Given the description of an element on the screen output the (x, y) to click on. 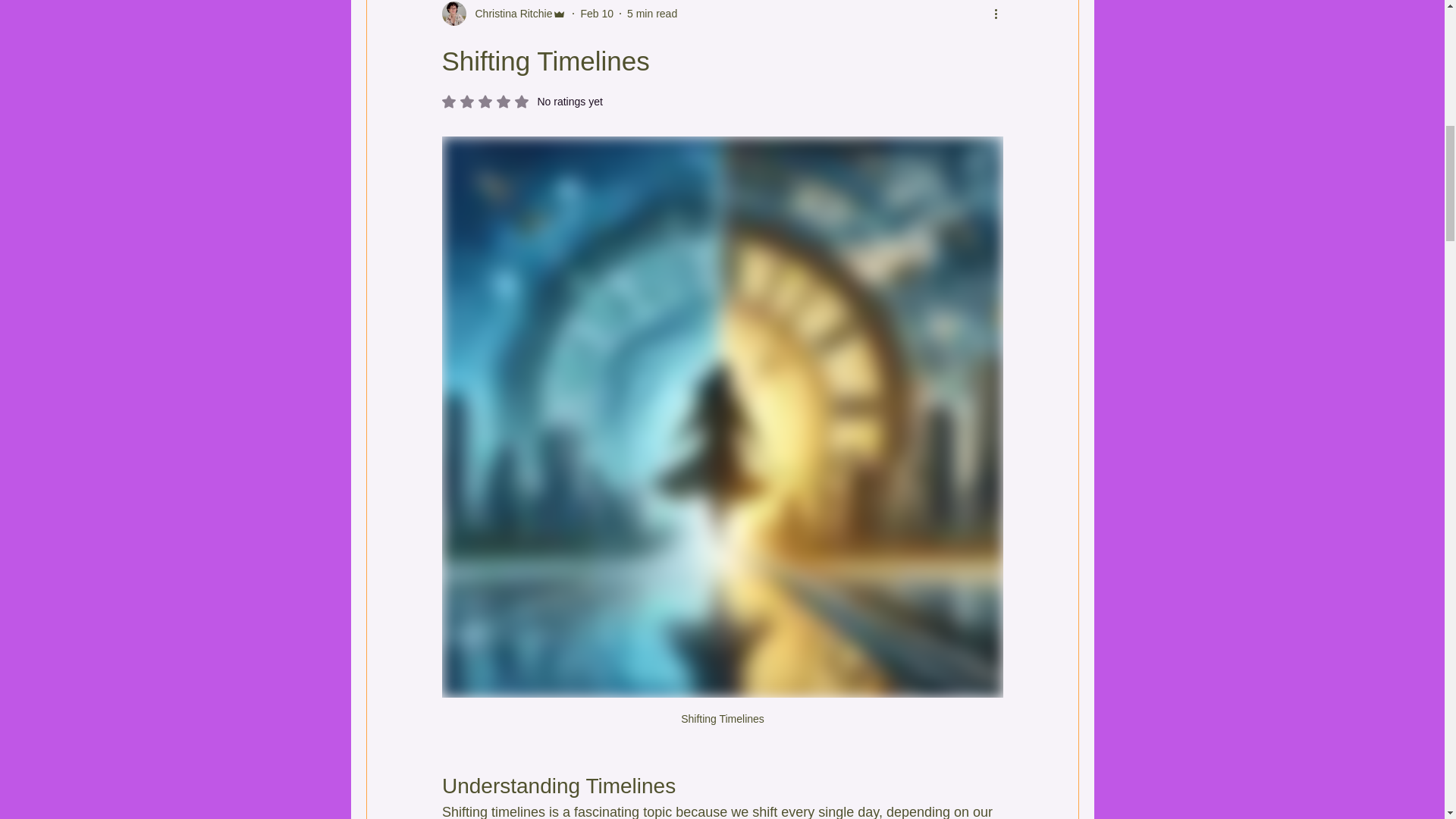
Feb 10 (595, 13)
5 min read (521, 101)
Christina Ritchie (652, 13)
